Given the description of an element on the screen output the (x, y) to click on. 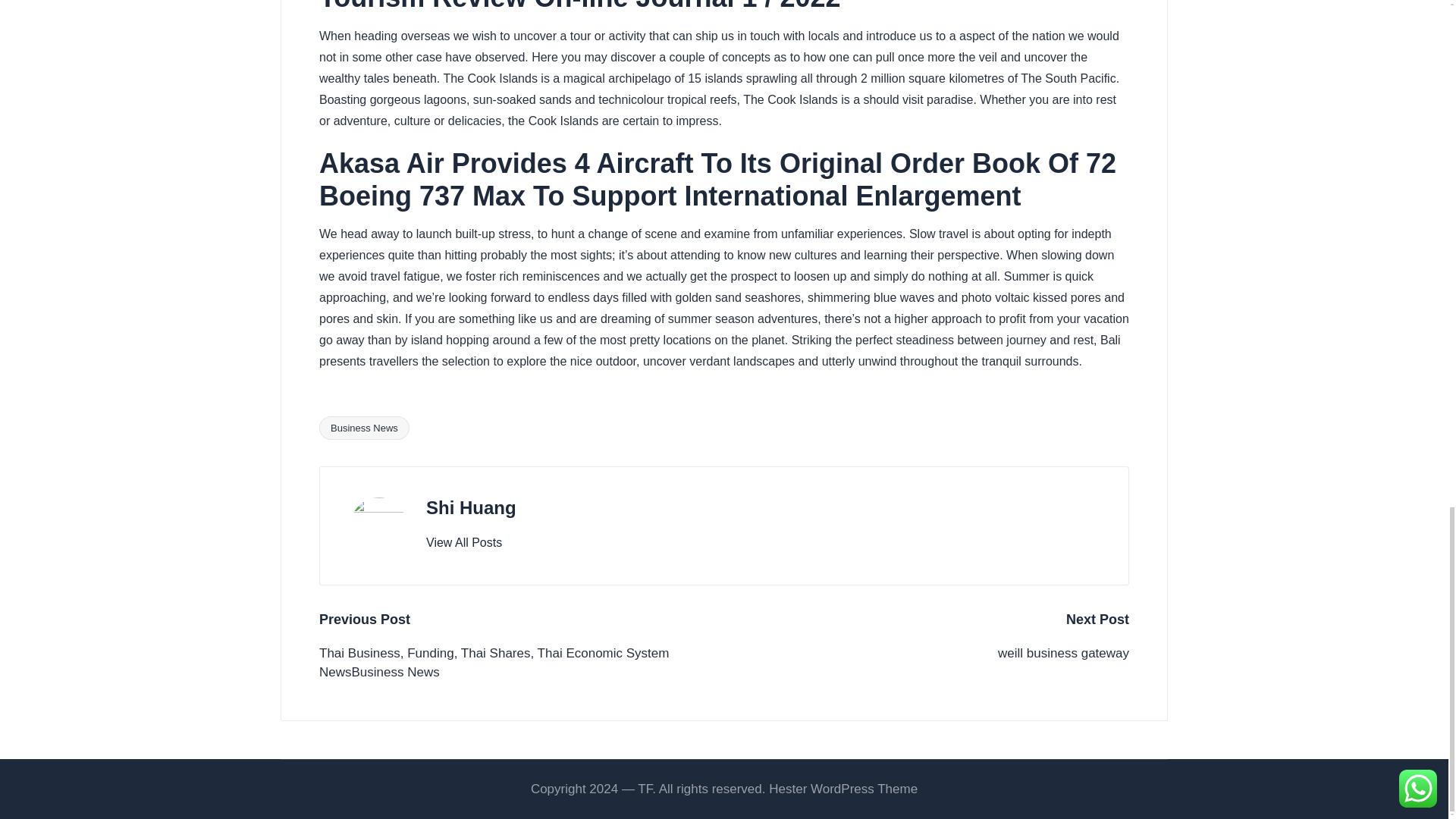
Shi Huang (471, 507)
weill business gateway (926, 653)
View All Posts (464, 542)
Business News (363, 427)
Hester WordPress Theme (842, 789)
